Given the description of an element on the screen output the (x, y) to click on. 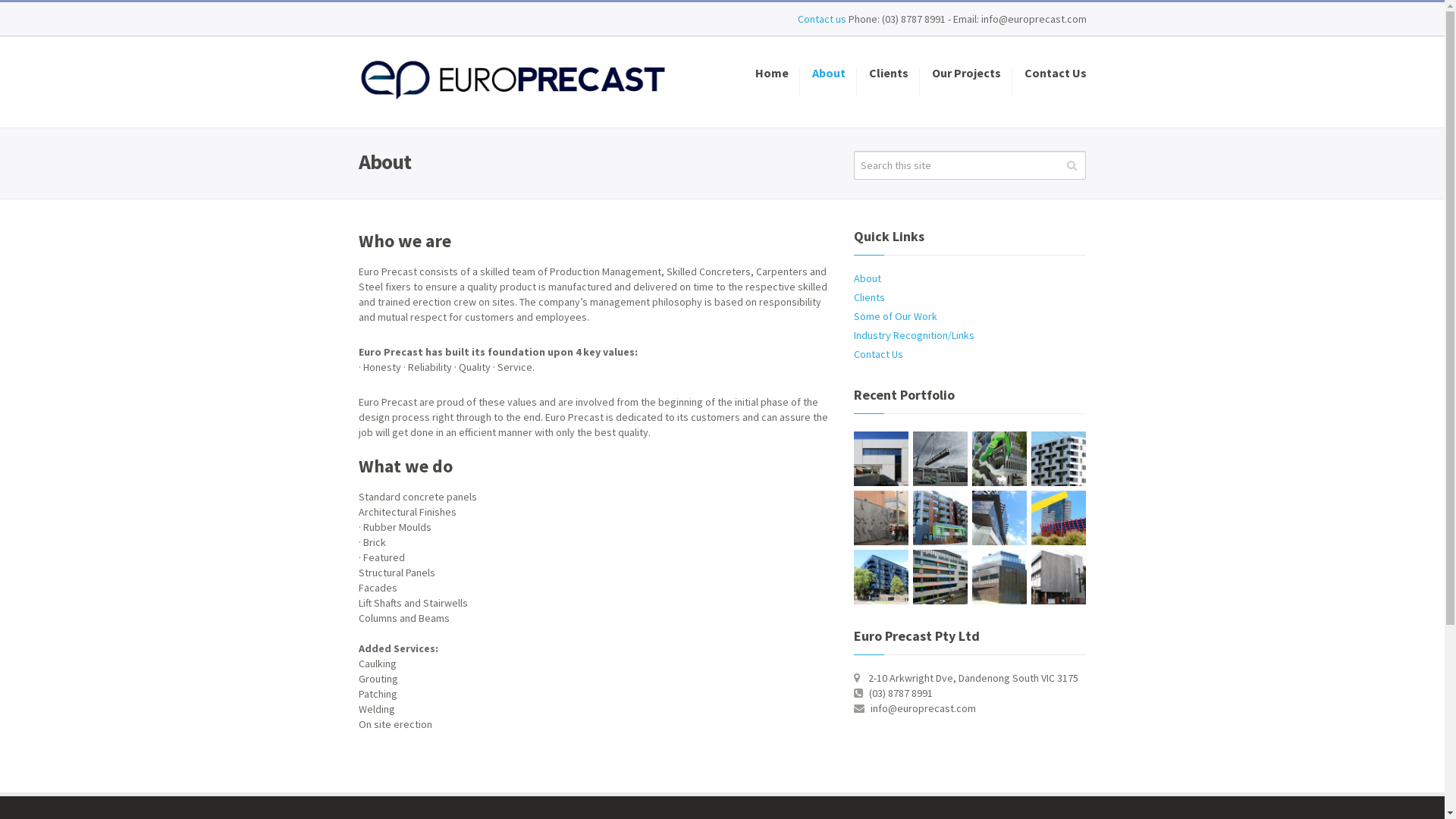
Home Element type: text (771, 81)
Permalink to ST KEVINS Element type: hover (999, 576)
Permalink to End to End Element type: hover (940, 458)
Permalink to VOGUE Element type: hover (999, 517)
Contact us Element type: text (822, 18)
Permalink to Bayside Brighton Element type: hover (880, 458)
About Element type: text (828, 81)
Contact Us Element type: text (1049, 81)
Permalink to AIA Element type: hover (999, 458)
Permalink to BARKLY ST FOOTSCRAY Element type: hover (1058, 458)
Permalink to THE GEORGE Element type: hover (880, 576)
Permalink to HIVE Element type: hover (880, 517)
Contact Us Element type: text (878, 353)
Clients Element type: text (887, 81)
About Element type: text (867, 278)
Our Projects Element type: text (966, 81)
Permalink to OLIVE YORK WAY Element type: hover (940, 517)
Industry Recognition/Links Element type: text (913, 335)
Some of Our Work Element type: text (895, 316)
Clients Element type: text (868, 297)
Permalink to SACRED HEART Element type: hover (1058, 576)
Permalink to TAC Element type: hover (940, 576)
Permalink to TRAVANCORE Element type: hover (1058, 517)
